Given the description of an element on the screen output the (x, y) to click on. 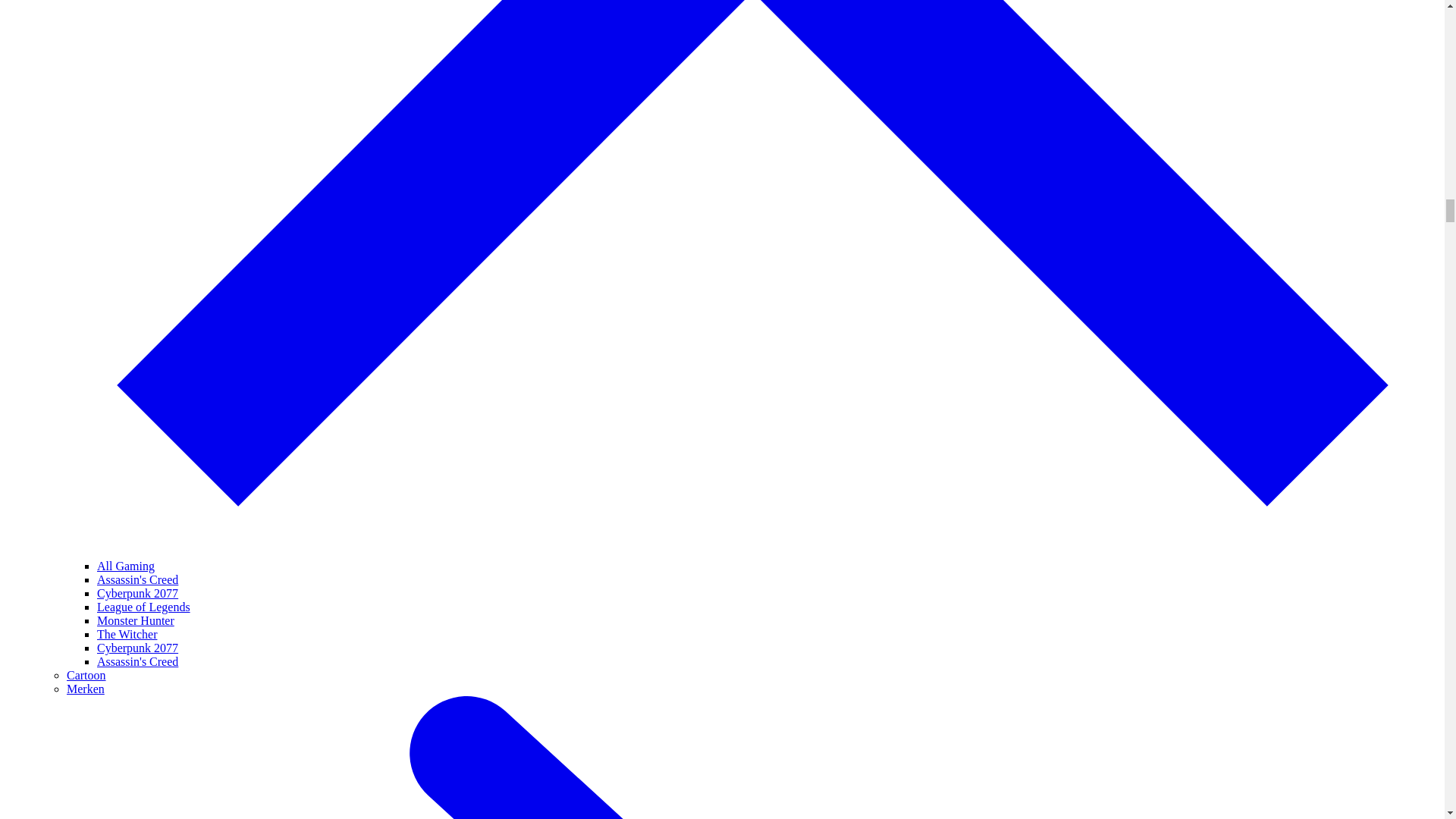
League of Legends (143, 606)
Assassin's Creed (137, 579)
All Gaming (125, 565)
Monster Hunter (135, 620)
Cartoon (86, 675)
Cyberpunk 2077 (137, 593)
Cyberpunk 2077 (137, 647)
The Witcher (127, 634)
Assassin's Creed (137, 661)
